Given the description of an element on the screen output the (x, y) to click on. 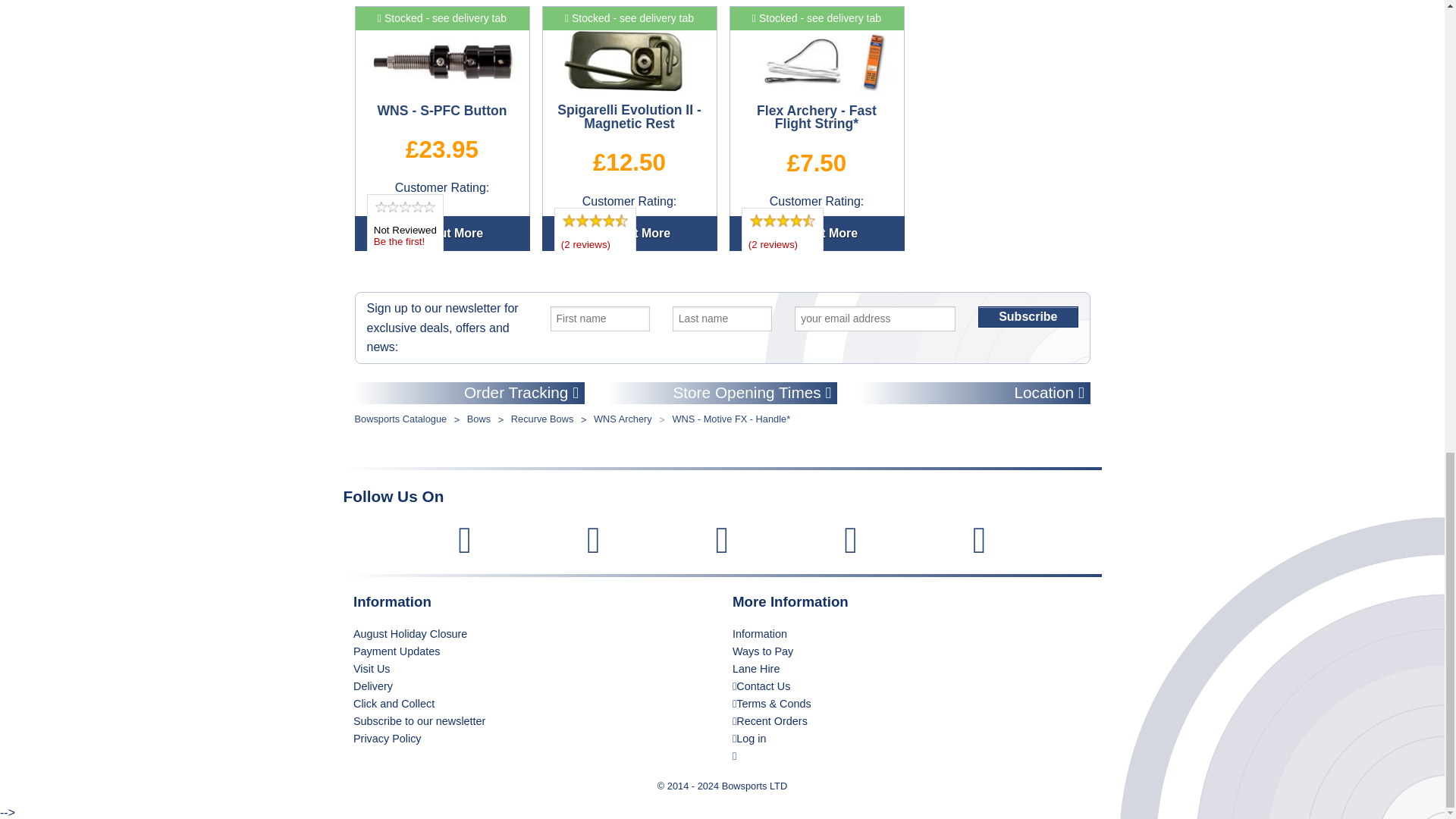
WNS - S-PFC Button (442, 60)
Store Opening Times (722, 393)
Order Tracking (470, 393)
Subscribe (1027, 316)
Spigarelli Evolution II - Magnetic Rest (628, 60)
Location (974, 393)
